Given the description of an element on the screen output the (x, y) to click on. 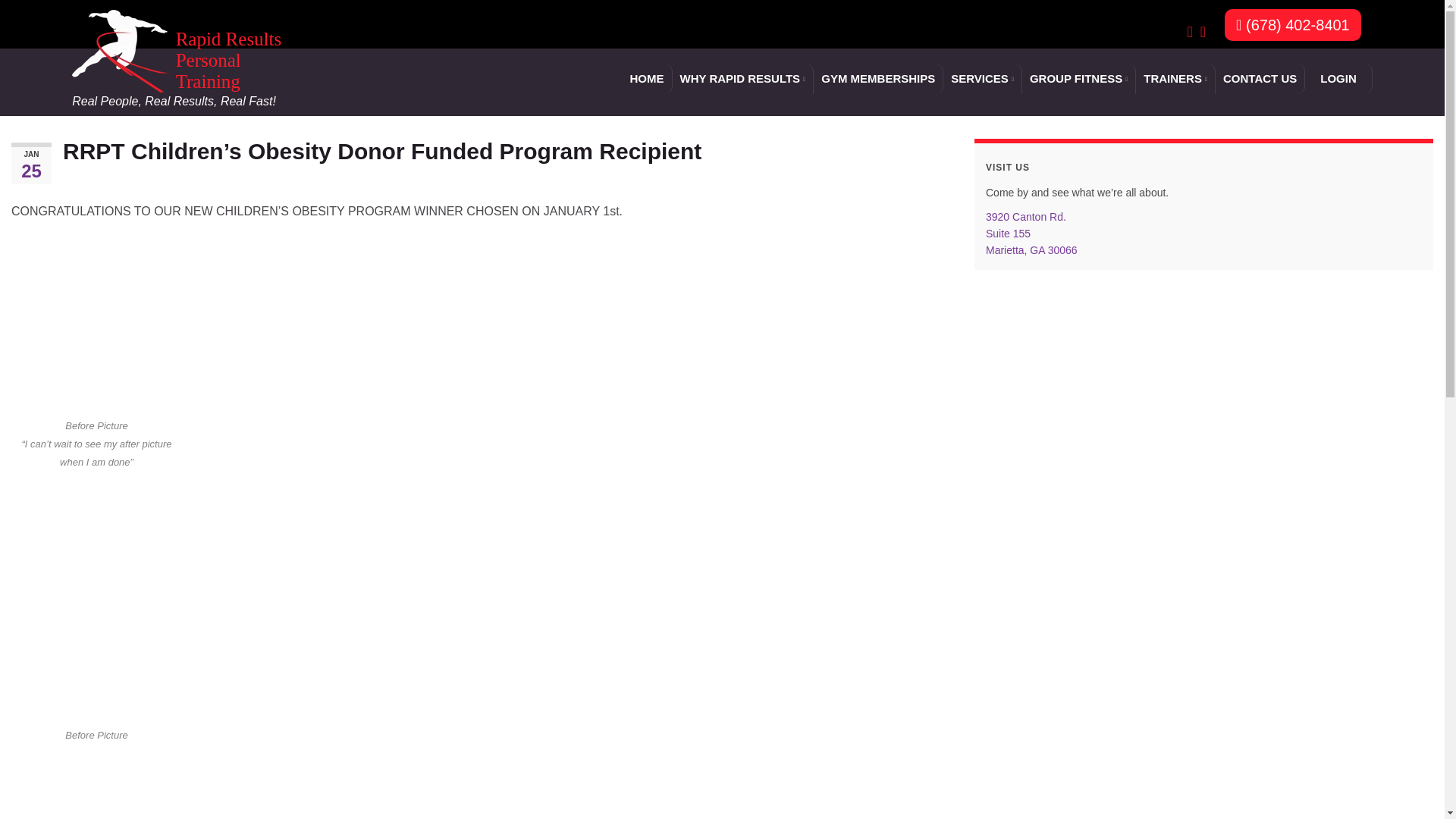
SERVICES (982, 78)
TRAINERS (1174, 78)
GYM MEMBERSHIPS (877, 78)
WHY RAPID RESULTS (741, 78)
Visit Rapid Results Personal Training's Facebook page (1189, 30)
GROUP FITNESS (1078, 78)
Visit Rapid Results Personal Training's Instagram page (1202, 30)
HOME (646, 78)
